Given the description of an element on the screen output the (x, y) to click on. 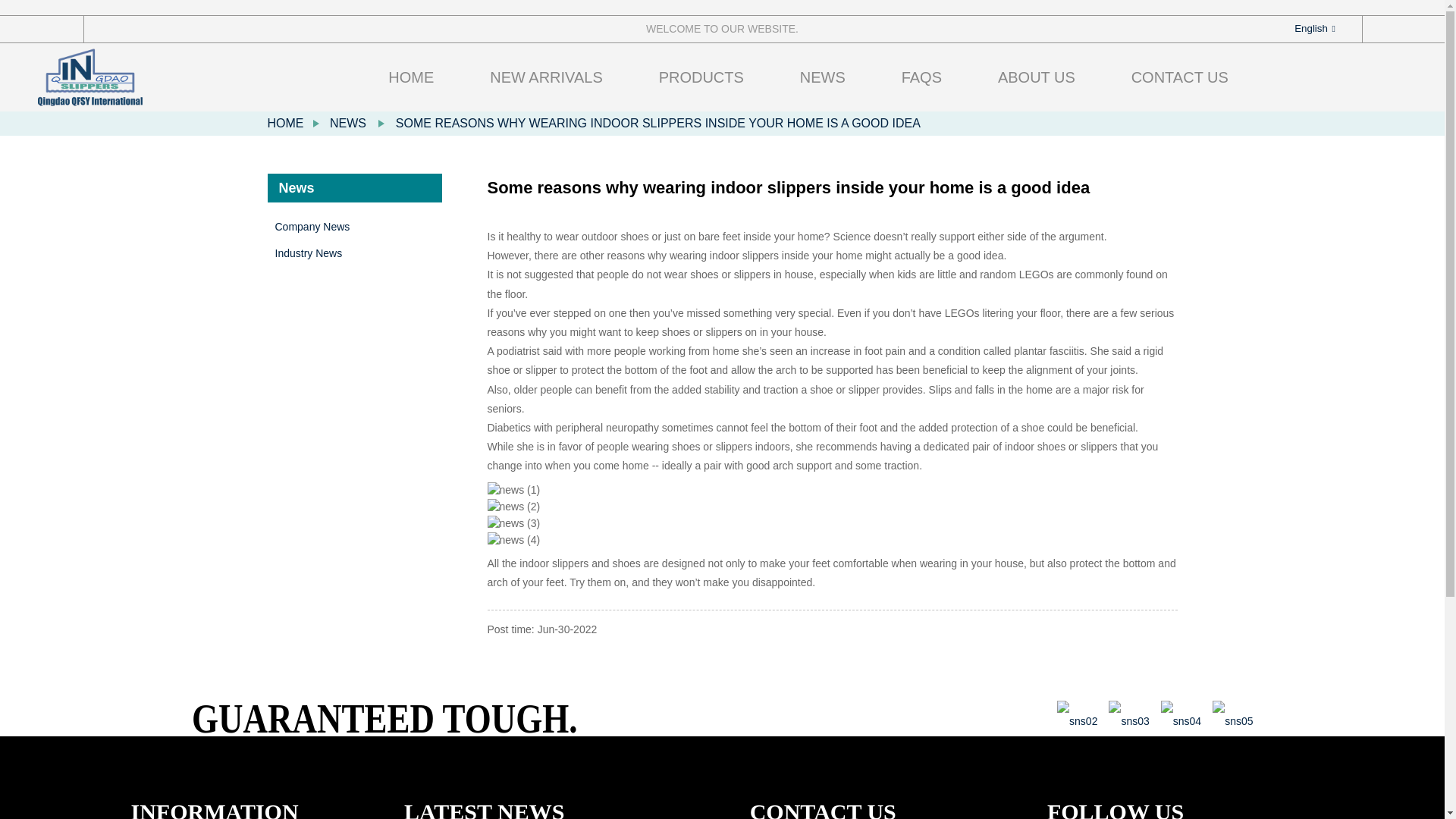
English (1302, 28)
NEW ARRIVALS (545, 77)
Company News (358, 226)
PRODUCTS (701, 77)
HOME (284, 123)
Industry News (358, 253)
CONTACT US (1179, 77)
NEWS (348, 123)
ABOUT US (1036, 77)
